Given the description of an element on the screen output the (x, y) to click on. 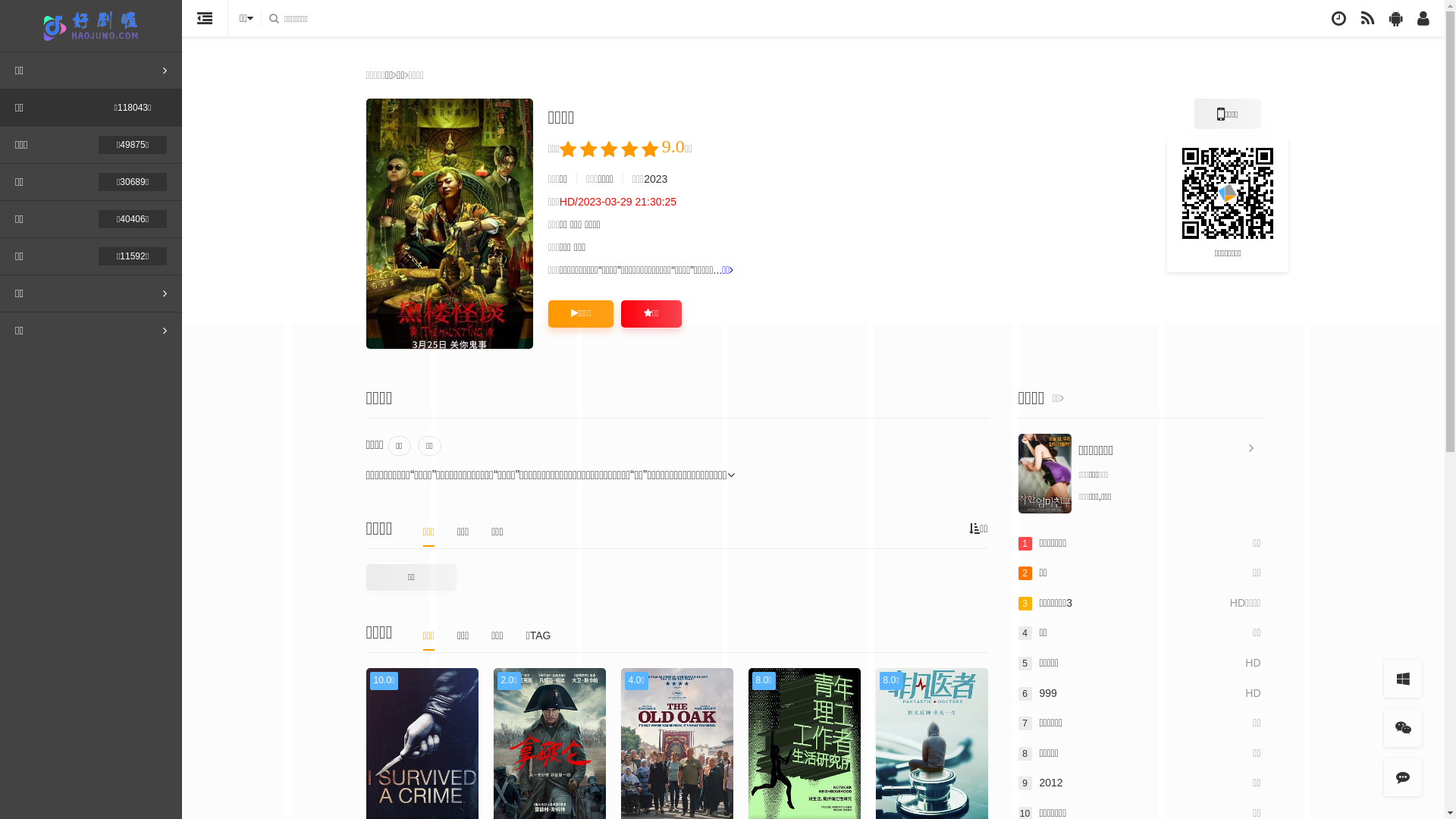
2023 Element type: text (655, 178)
HD
6999 Element type: text (1138, 693)
http://www.haojuwo.com/v/233946.html Element type: hover (1227, 192)
